Given the description of an element on the screen output the (x, y) to click on. 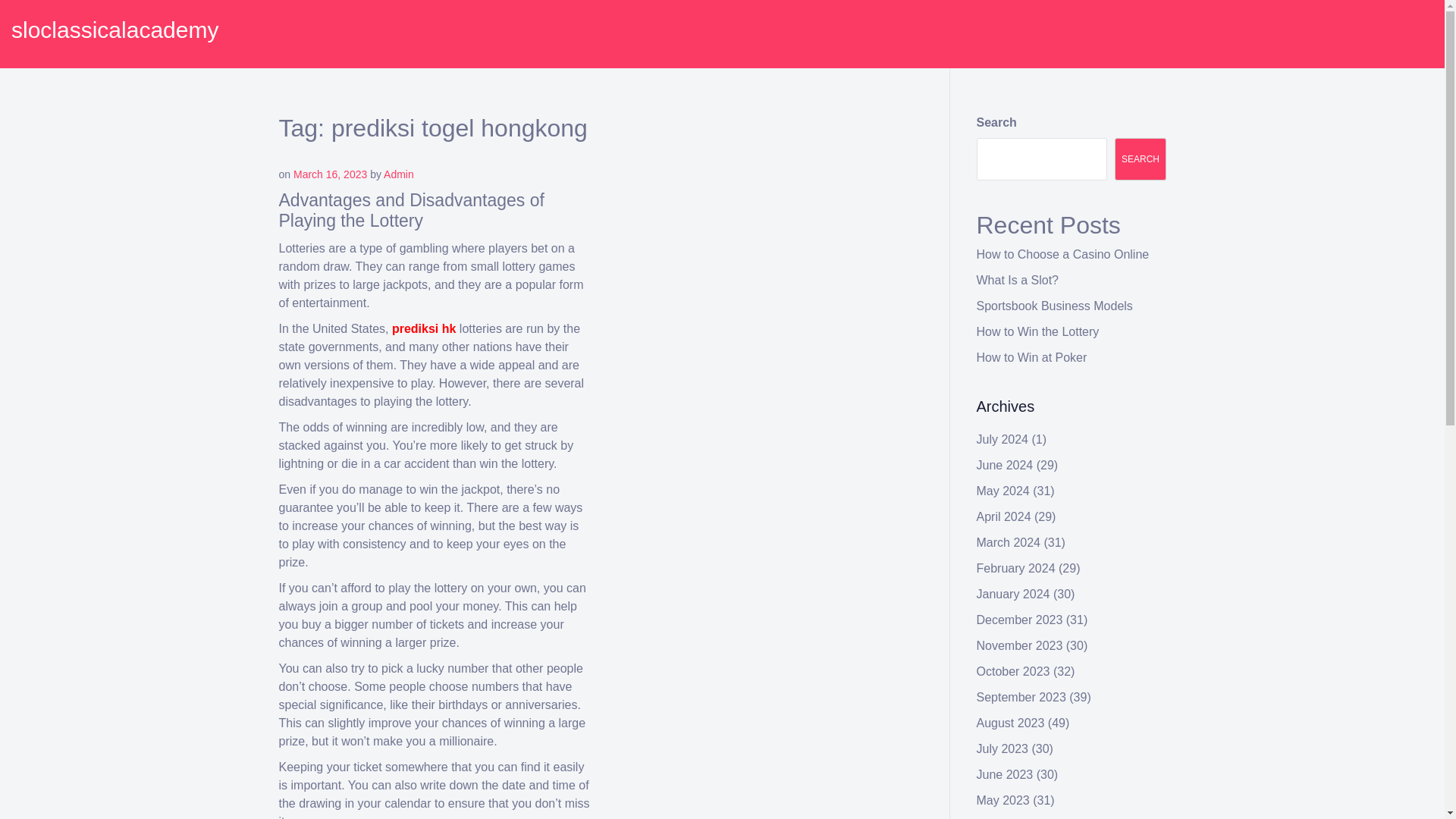
October 2023 (1012, 671)
May 2023 (1002, 799)
What Is a Slot? (1017, 279)
July 2024 (1002, 439)
April 2024 (1003, 516)
March 16, 2023 (330, 174)
February 2024 (1015, 567)
How to Win at Poker (1031, 357)
January 2024 (1012, 594)
prediksi hk (423, 328)
Admin (398, 174)
September 2023 (1020, 697)
May 2024 (1002, 490)
Sportsbook Business Models (1054, 305)
June 2024 (1004, 464)
